Given the description of an element on the screen output the (x, y) to click on. 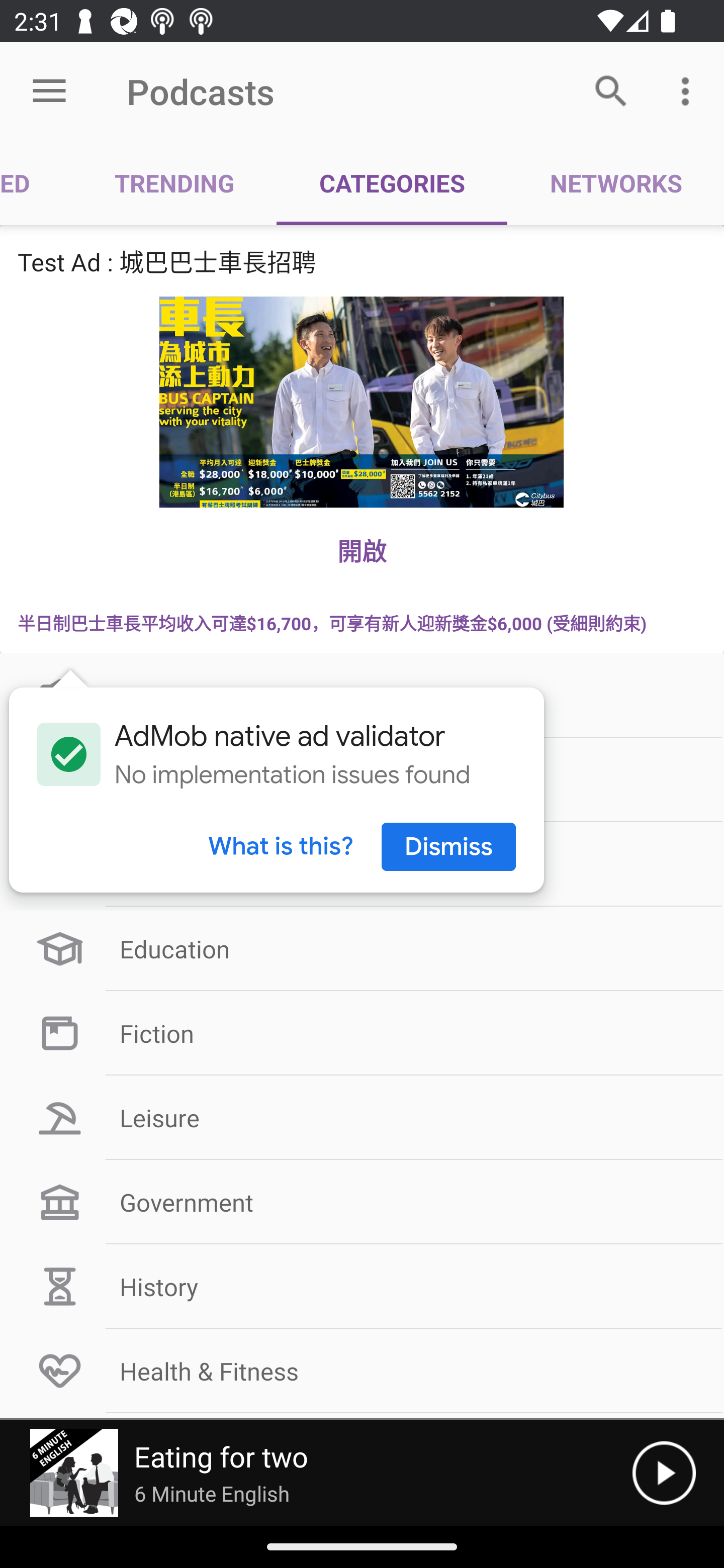
Open menu (49, 91)
Search (611, 90)
More options (688, 90)
TRENDING (174, 183)
CATEGORIES (391, 183)
NETWORKS (615, 183)
Test Ad : 城巴巴士車長招聘 (361, 261)
開啟 (362, 550)
半日制巴士車長平均收入可達$16,700，可享有新人迎新獎金$6,000 (受細則約束) (361, 622)
Education (362, 948)
Fiction (362, 1032)
Leisure (362, 1117)
Government (362, 1202)
History (362, 1286)
Health & Fitness (362, 1370)
Picture Eating for two 6 Minute English (316, 1472)
Play (663, 1472)
